Given the description of an element on the screen output the (x, y) to click on. 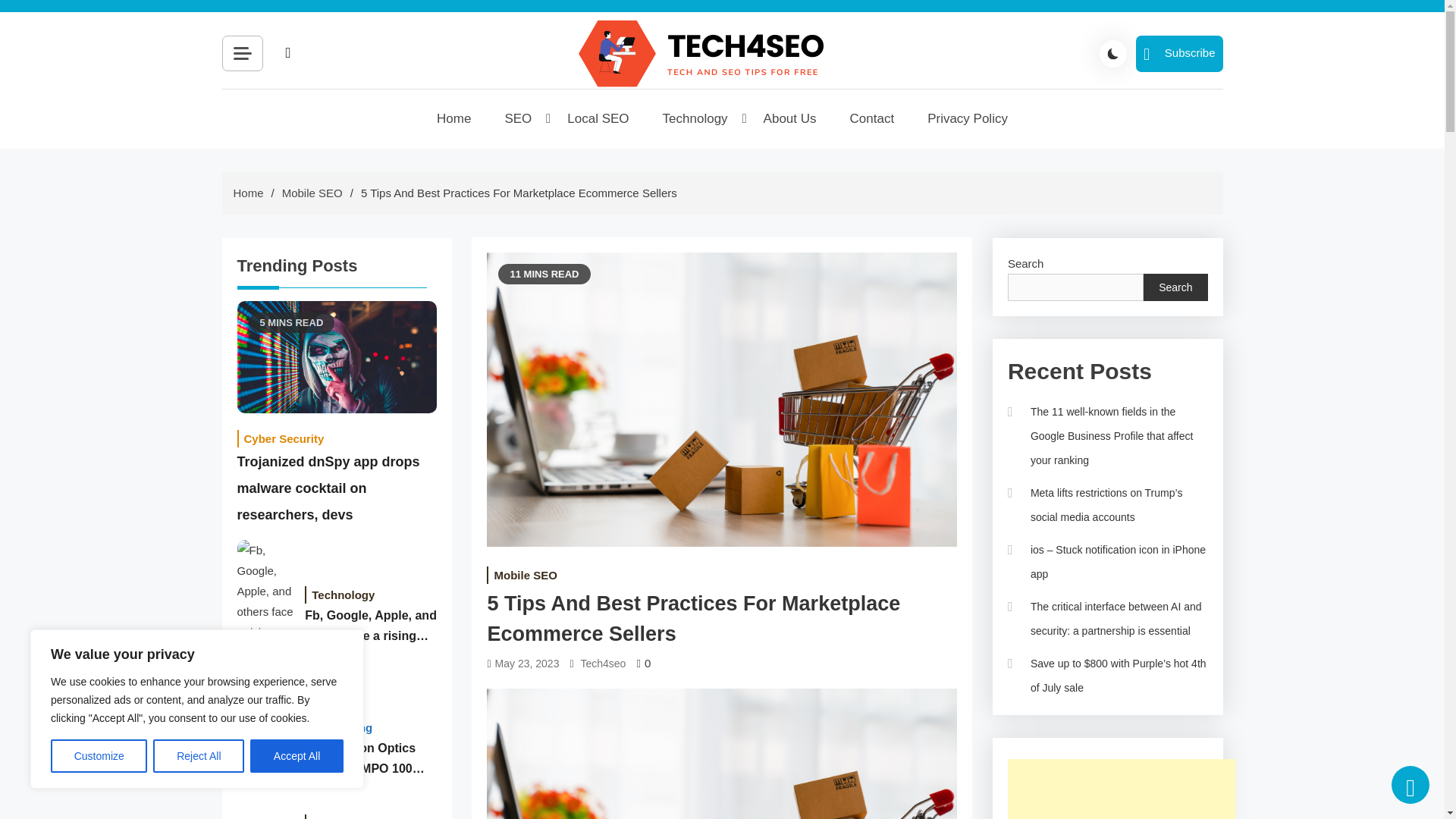
Accept All (296, 756)
Customize (98, 756)
Reject All (198, 756)
